Given the description of an element on the screen output the (x, y) to click on. 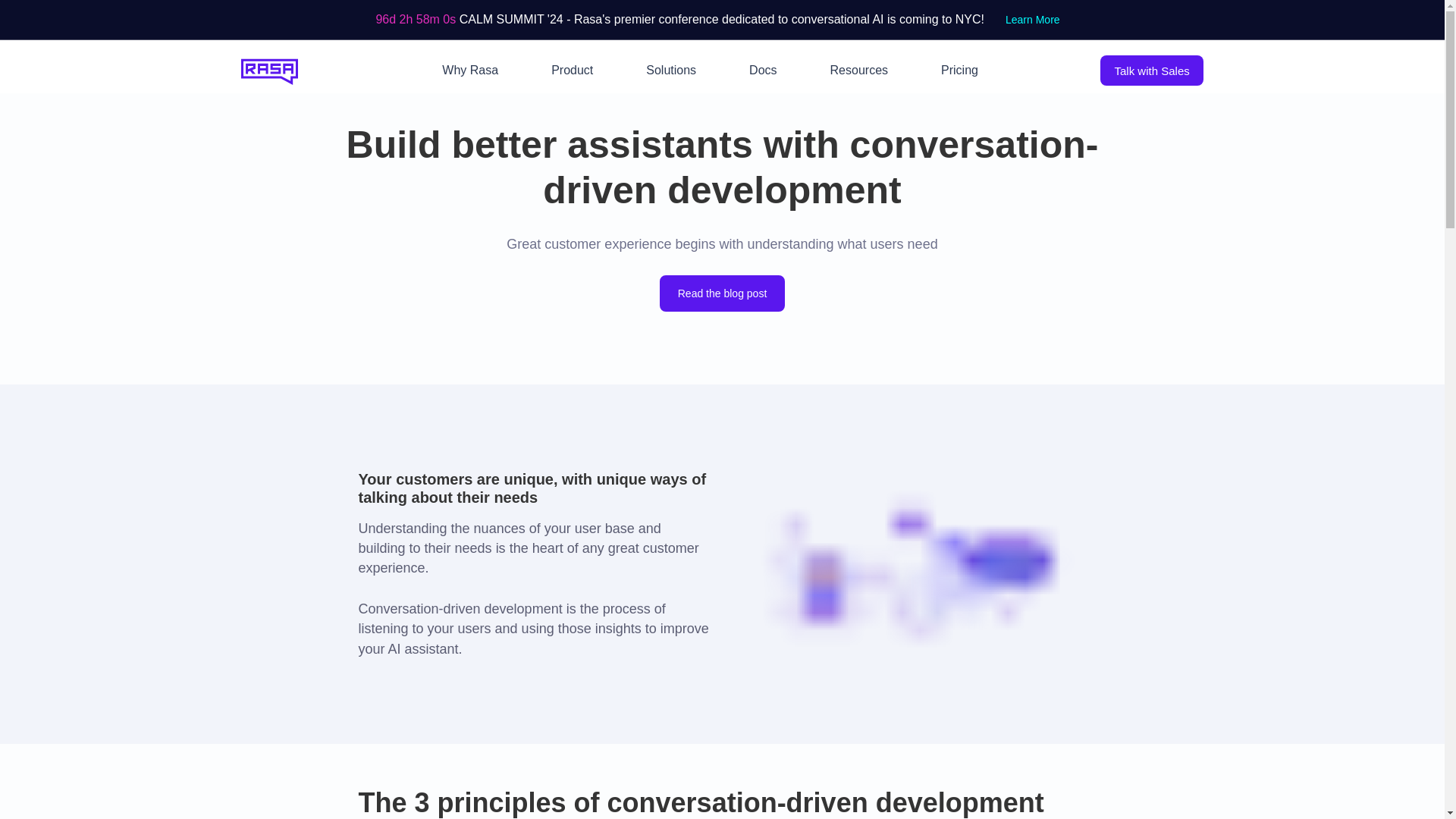
Why Rasa (469, 70)
Learn More (1031, 19)
Resources (858, 70)
Solutions (670, 70)
Docs (762, 70)
Product (571, 70)
